Given the description of an element on the screen output the (x, y) to click on. 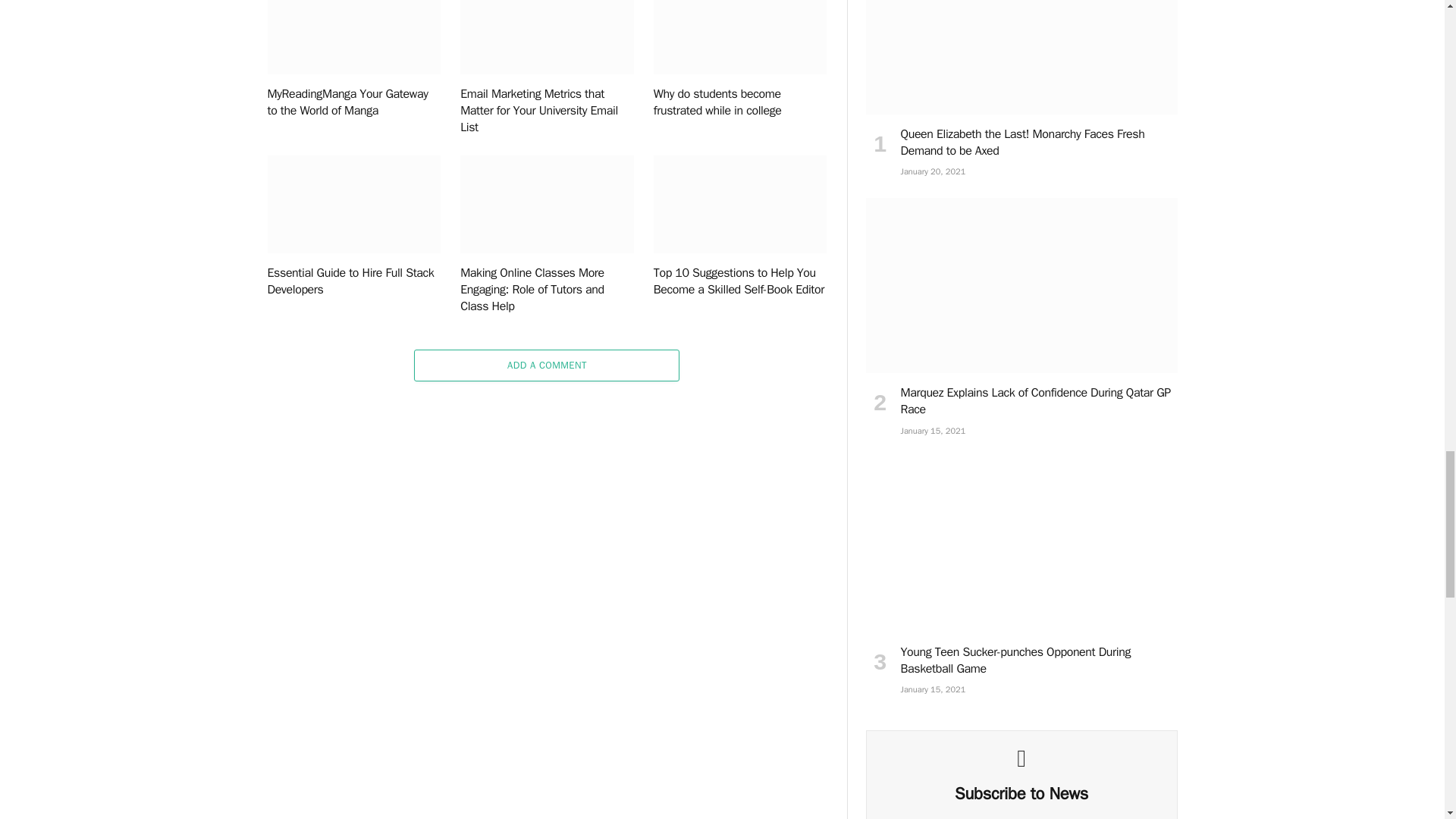
MyReadingManga Your Gateway to the World of Manga (353, 37)
